Given the description of an element on the screen output the (x, y) to click on. 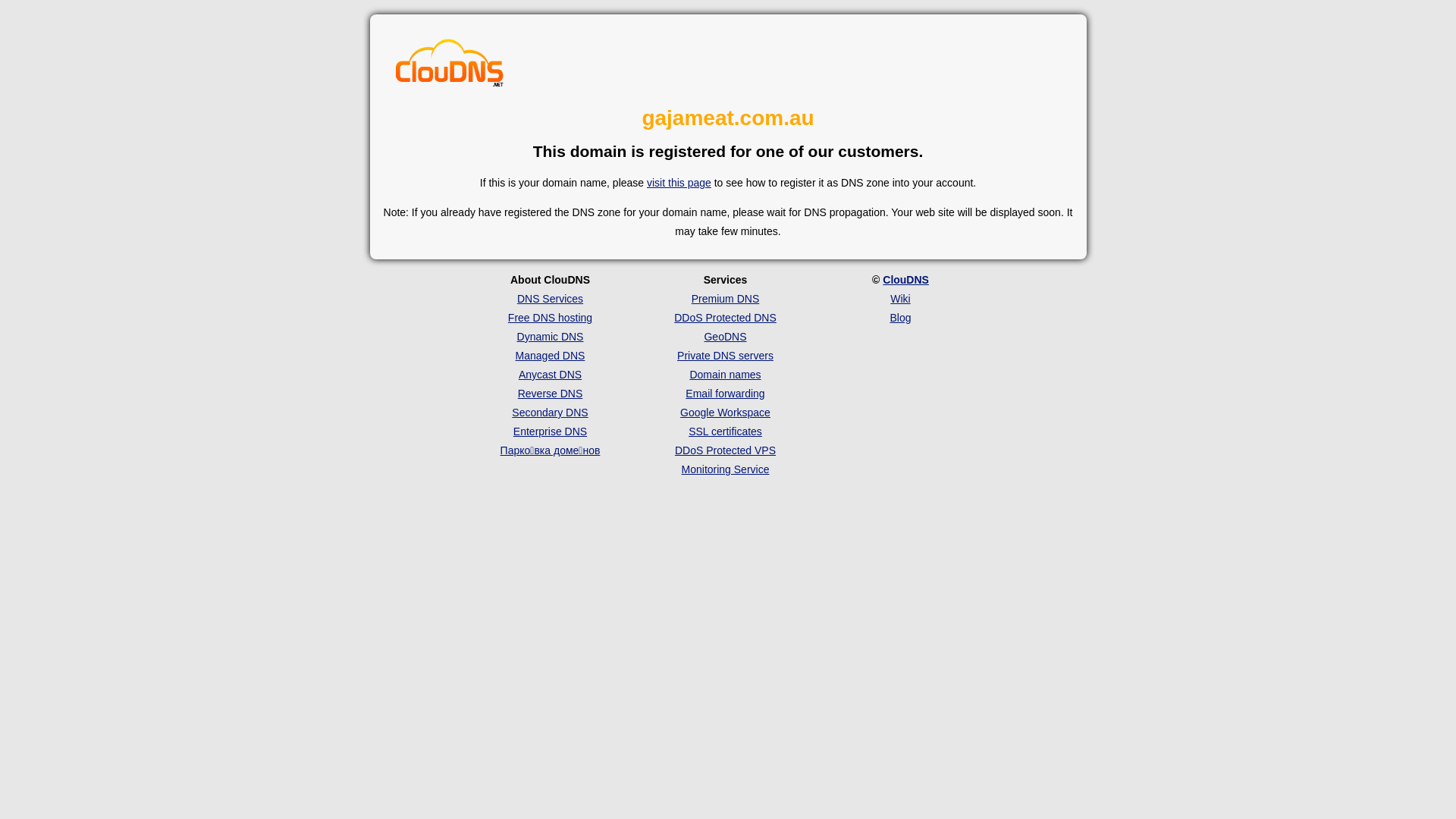
Private DNS servers Element type: text (725, 355)
SSL certificates Element type: text (725, 431)
Dynamic DNS Element type: text (550, 336)
Free DNS hosting Element type: text (550, 317)
Domain names Element type: text (724, 374)
Reverse DNS Element type: text (550, 393)
DDoS Protected DNS Element type: text (725, 317)
Secondary DNS Element type: text (549, 412)
ClouDNS Element type: text (905, 279)
GeoDNS Element type: text (724, 336)
Wiki Element type: text (900, 298)
Monitoring Service Element type: text (725, 469)
Premium DNS Element type: text (725, 298)
free dns hosting Element type: hover (449, 63)
Managed DNS Element type: text (550, 355)
Anycast DNS Element type: text (549, 374)
Email forwarding Element type: text (724, 393)
Google Workspace Element type: text (725, 412)
DNS Services Element type: text (550, 298)
DDoS Protected VPS Element type: text (724, 450)
visit this page Element type: text (678, 182)
Enterprise DNS Element type: text (549, 431)
Blog Element type: text (899, 317)
